Given the description of an element on the screen output the (x, y) to click on. 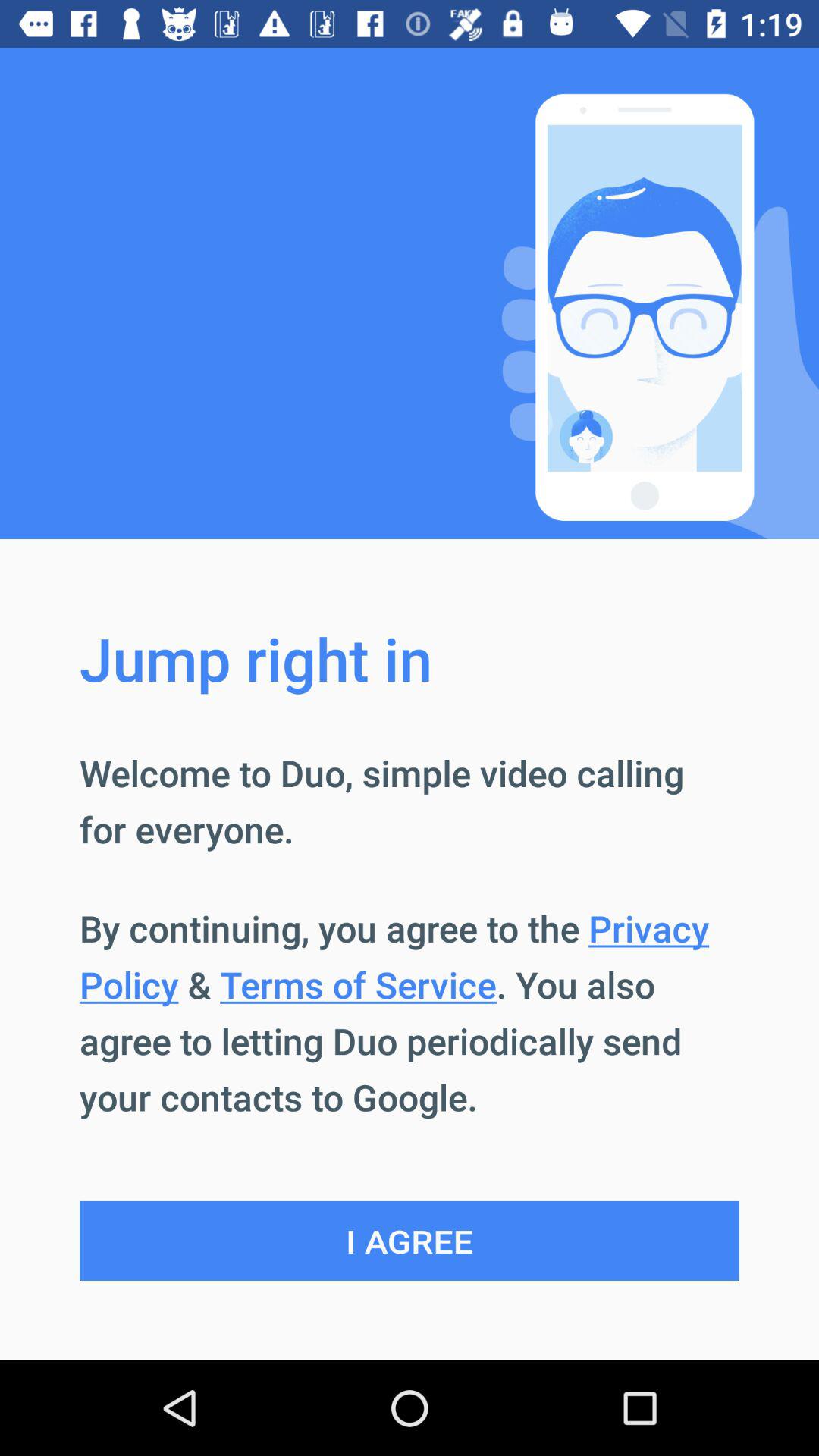
swipe until the i agree icon (409, 1240)
